Given the description of an element on the screen output the (x, y) to click on. 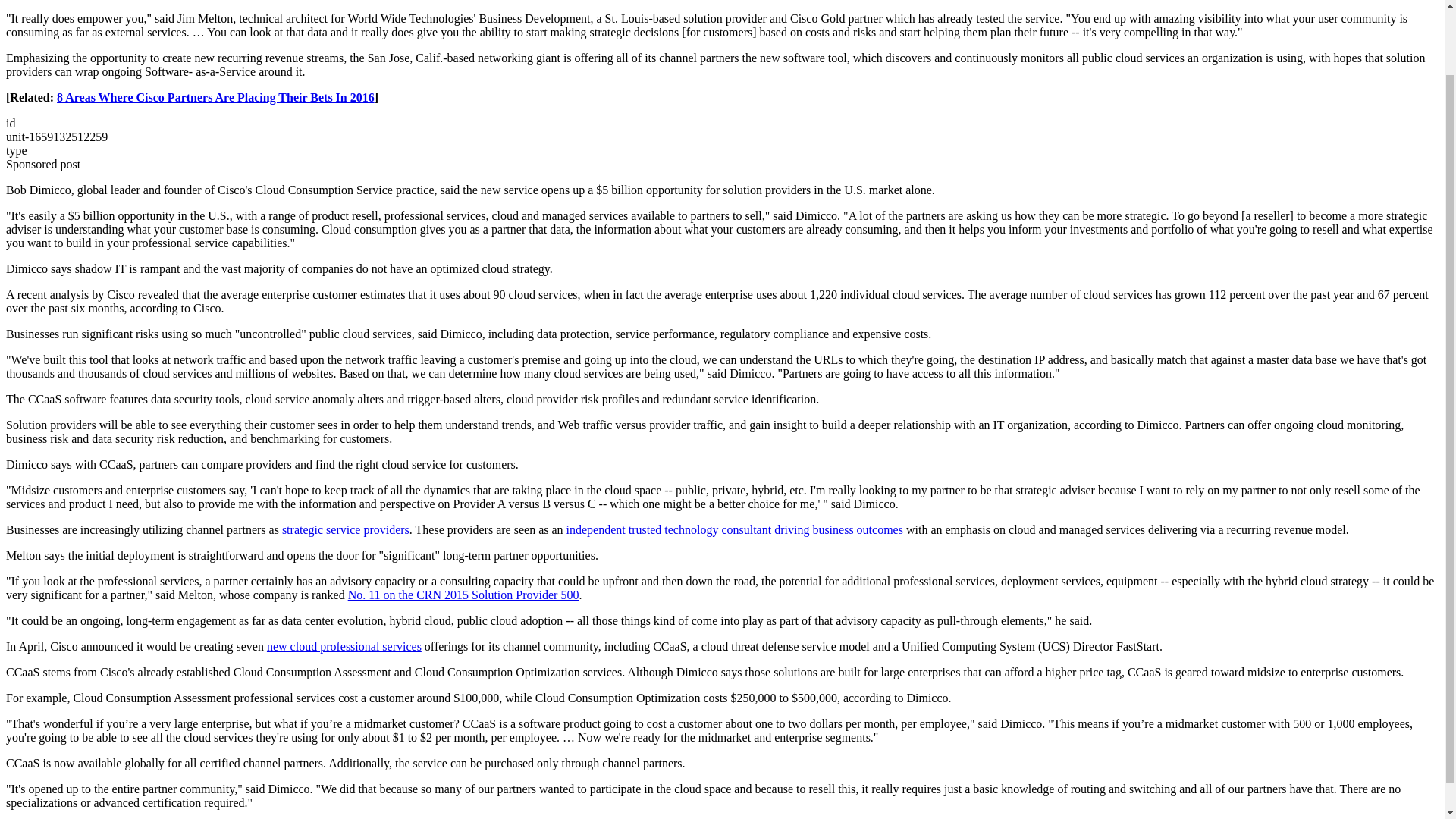
new cloud professional services (344, 645)
No. 11 on the CRN 2015 Solution Provider 500 (463, 594)
strategic service providers (345, 529)
8 Areas Where Cisco Partners Are Placing Their Bets In 2016 (215, 97)
